Given the description of an element on the screen output the (x, y) to click on. 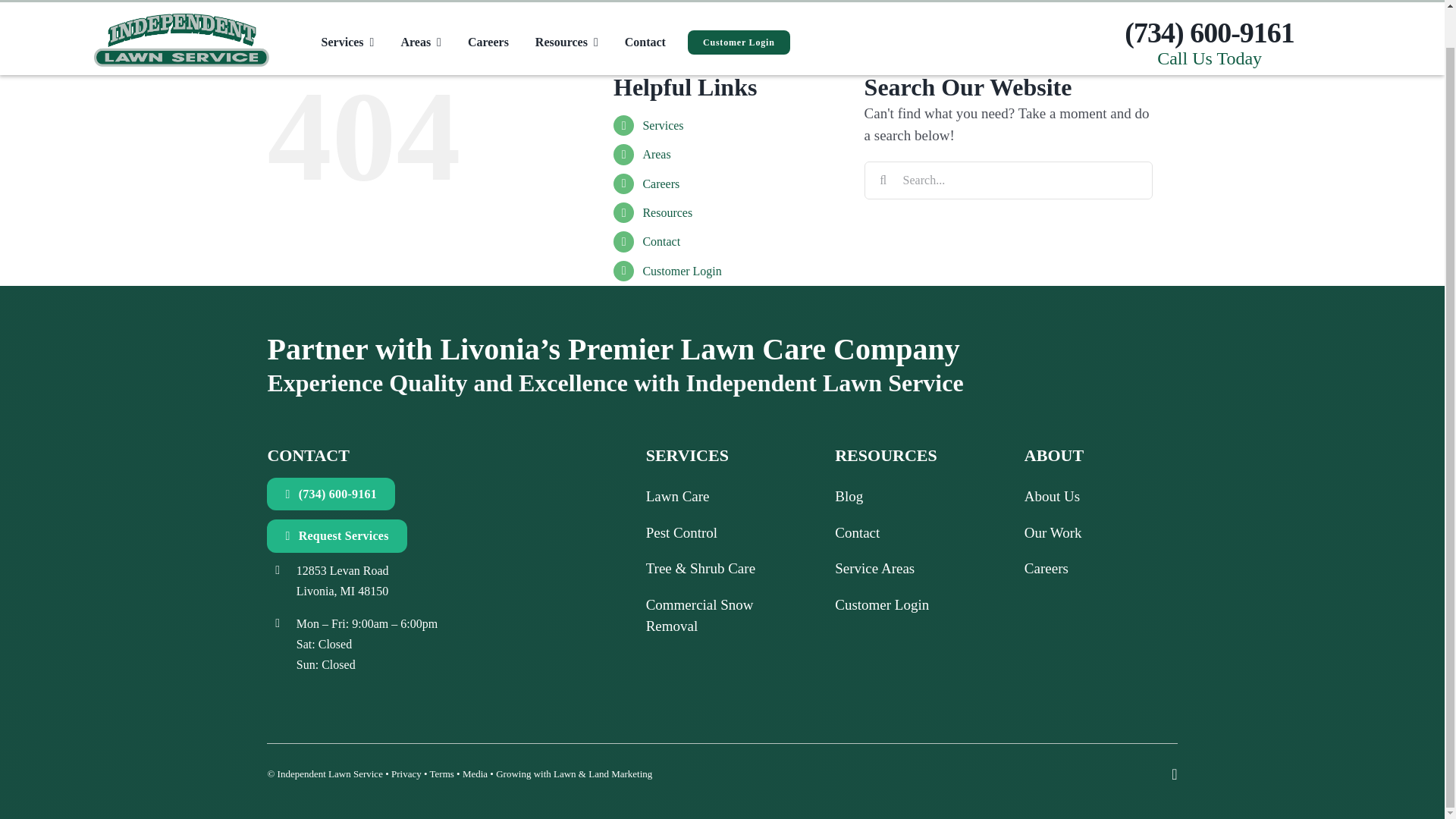
Careers (488, 7)
Resources (566, 7)
Areas (420, 7)
Services (347, 7)
